Given the description of an element on the screen output the (x, y) to click on. 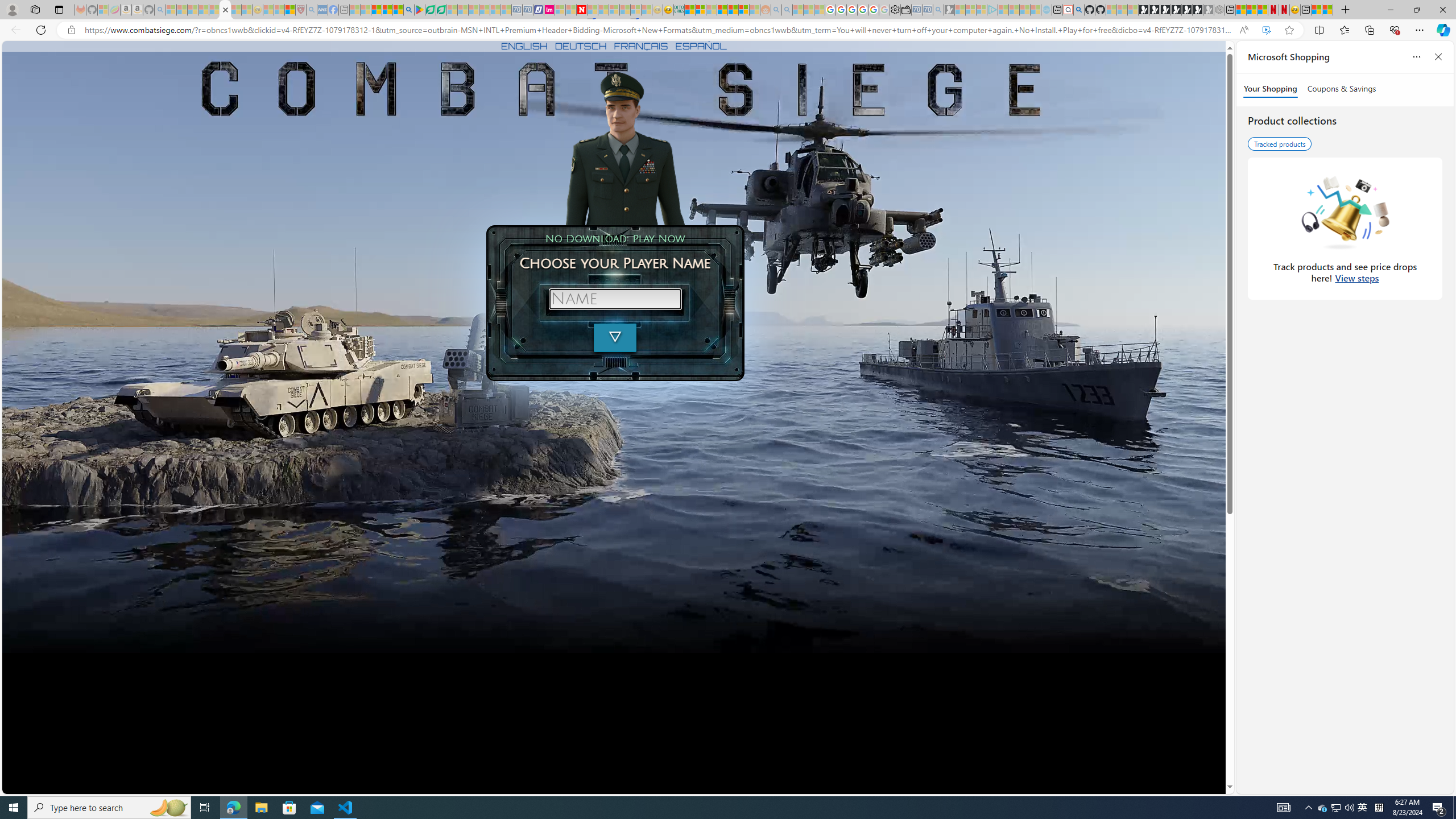
Wallet (905, 9)
Play Free Online Games | Games from Microsoft Start (1144, 9)
Bing Real Estate - Home sales and rental listings - Sleeping (938, 9)
MSNBC - MSN - Sleeping (355, 9)
